Given the description of an element on the screen output the (x, y) to click on. 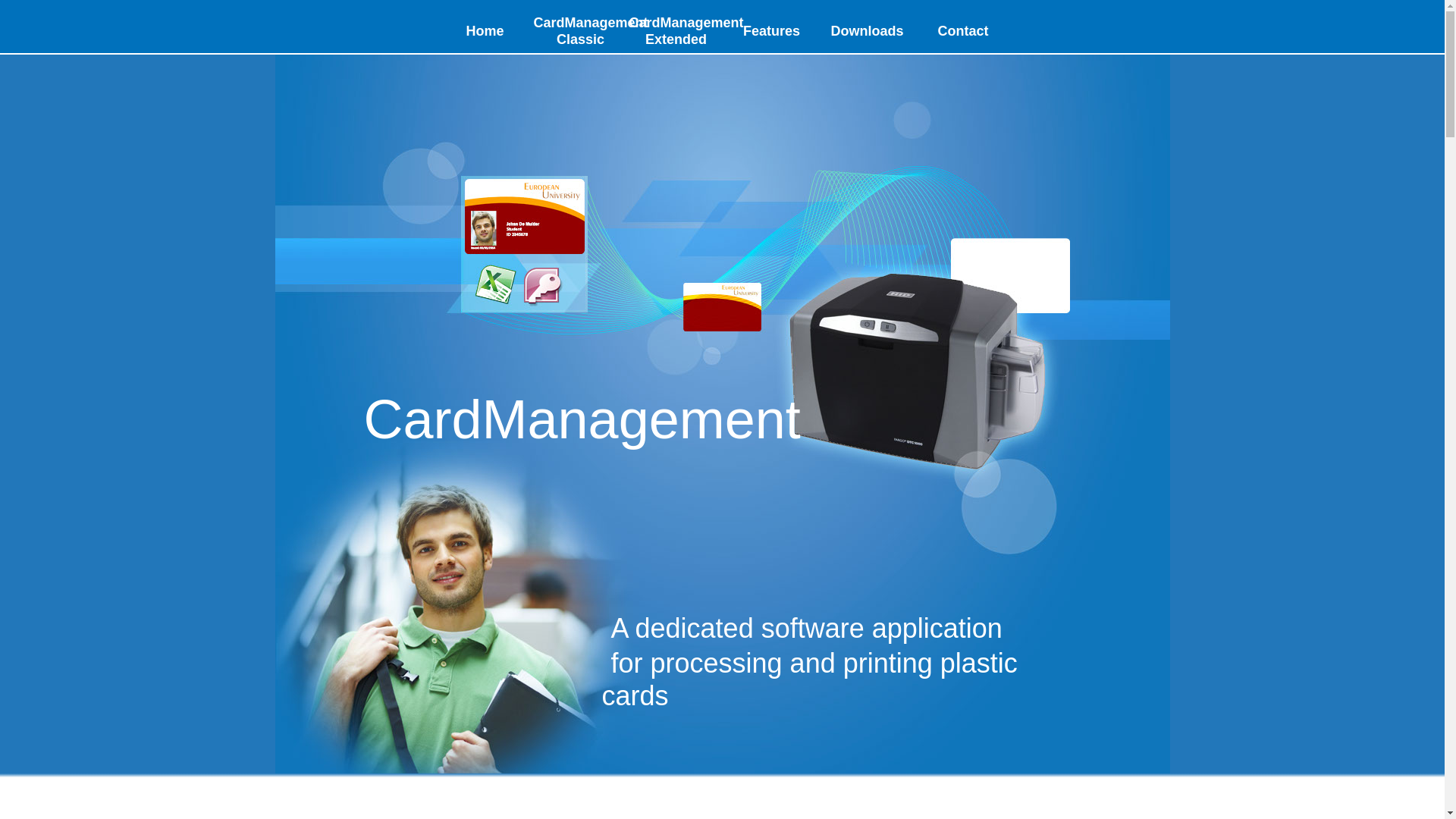
Features Element type: text (771, 31)
CardManagement
Extended Element type: text (676, 31)
CardManagement
Classic Element type: text (580, 31)
Home Element type: text (485, 31)
Downloads Element type: text (867, 31)
Contact Element type: text (963, 31)
